Given the description of an element on the screen output the (x, y) to click on. 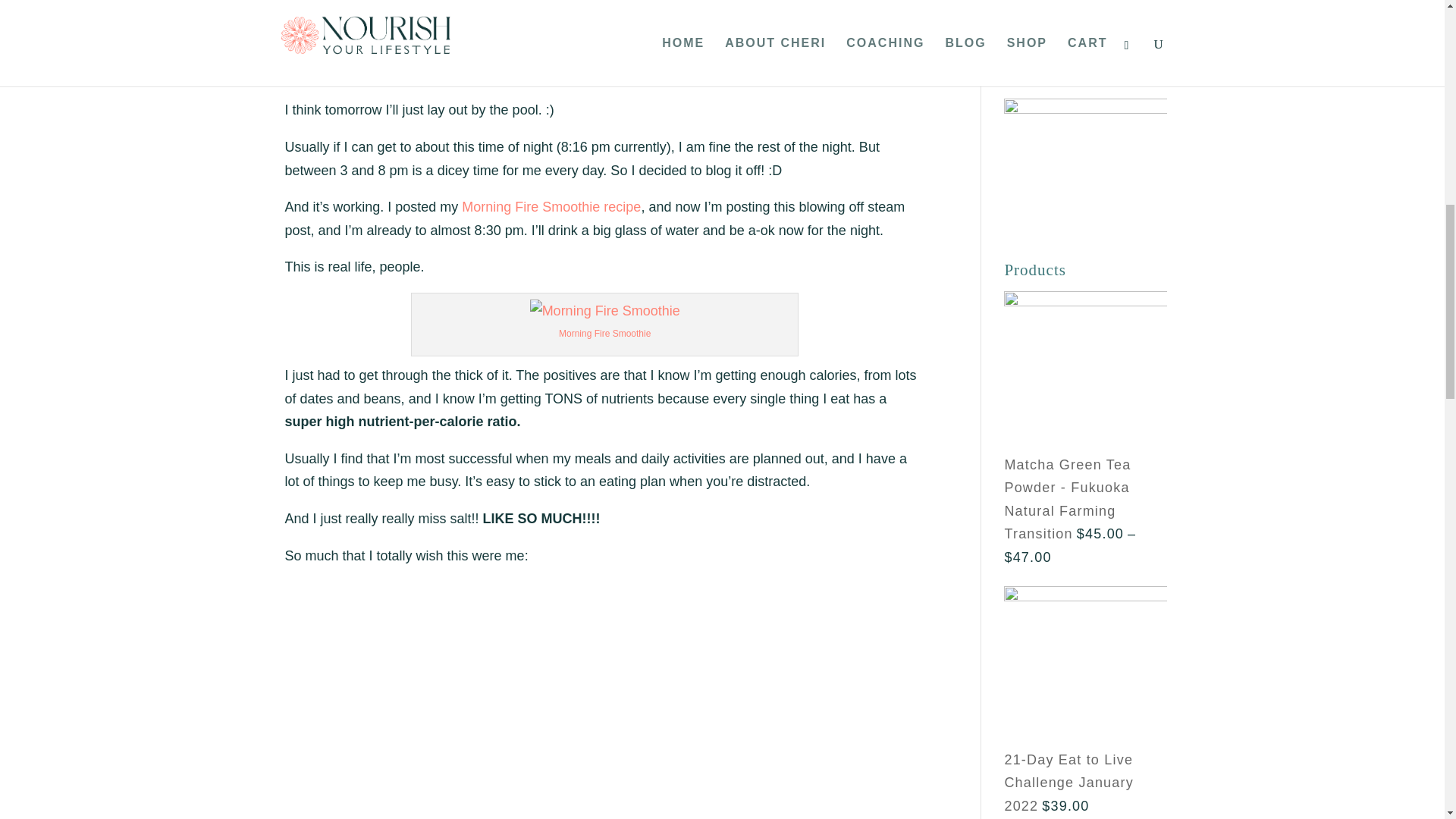
Morning Fire Smoothie (604, 333)
Morning Fire Smoothie recipe (550, 206)
